Given the description of an element on the screen output the (x, y) to click on. 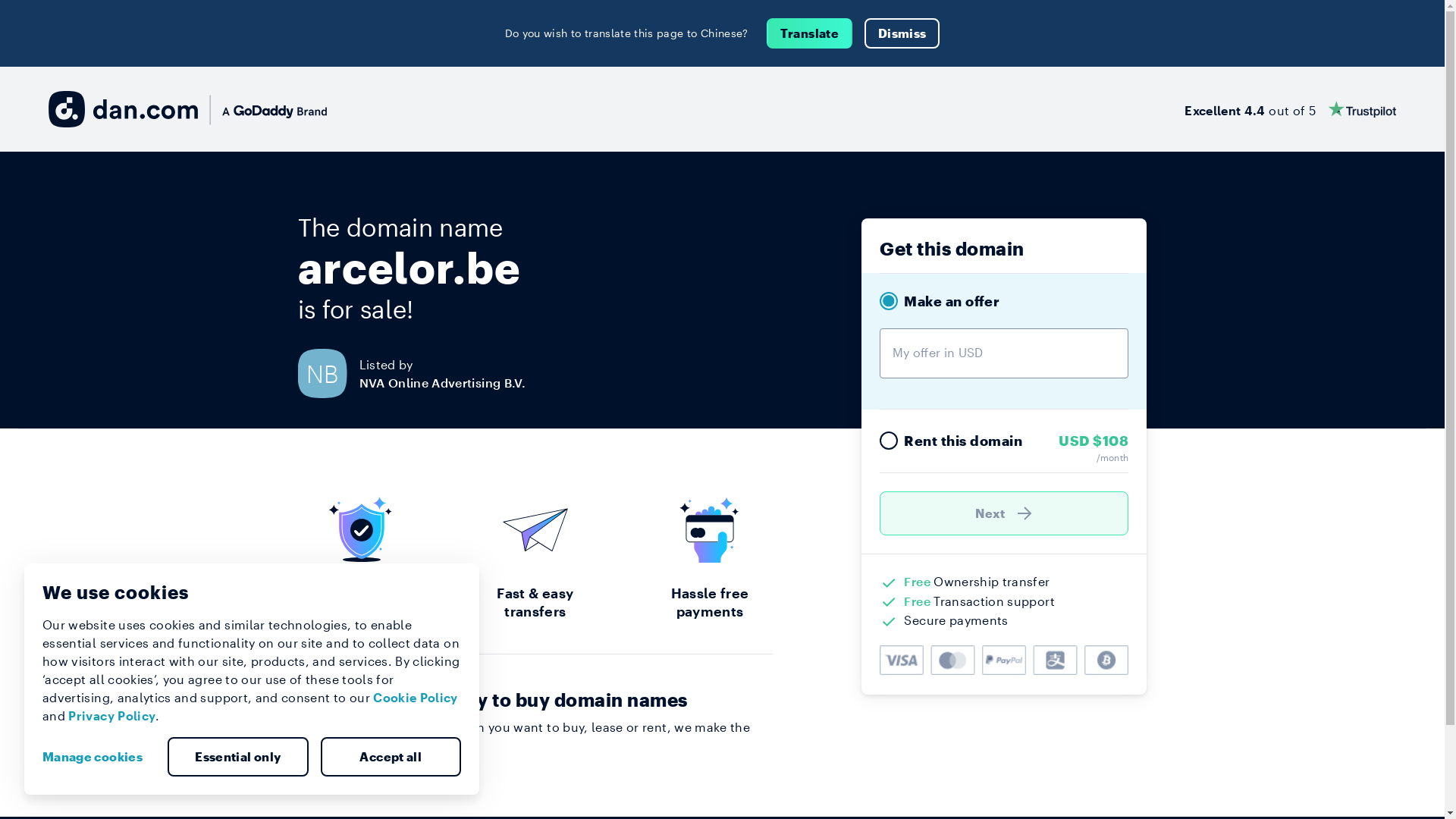
Translate Element type: text (809, 33)
Manage cookies Element type: text (98, 756)
Next
) Element type: text (1003, 513)
Privacy Policy Element type: text (111, 715)
Cookie Policy Element type: text (415, 697)
Essential only Element type: text (237, 756)
Excellent 4.4 out of 5 Element type: text (1290, 109)
Accept all Element type: text (390, 756)
Dismiss Element type: text (901, 33)
